Given the description of an element on the screen output the (x, y) to click on. 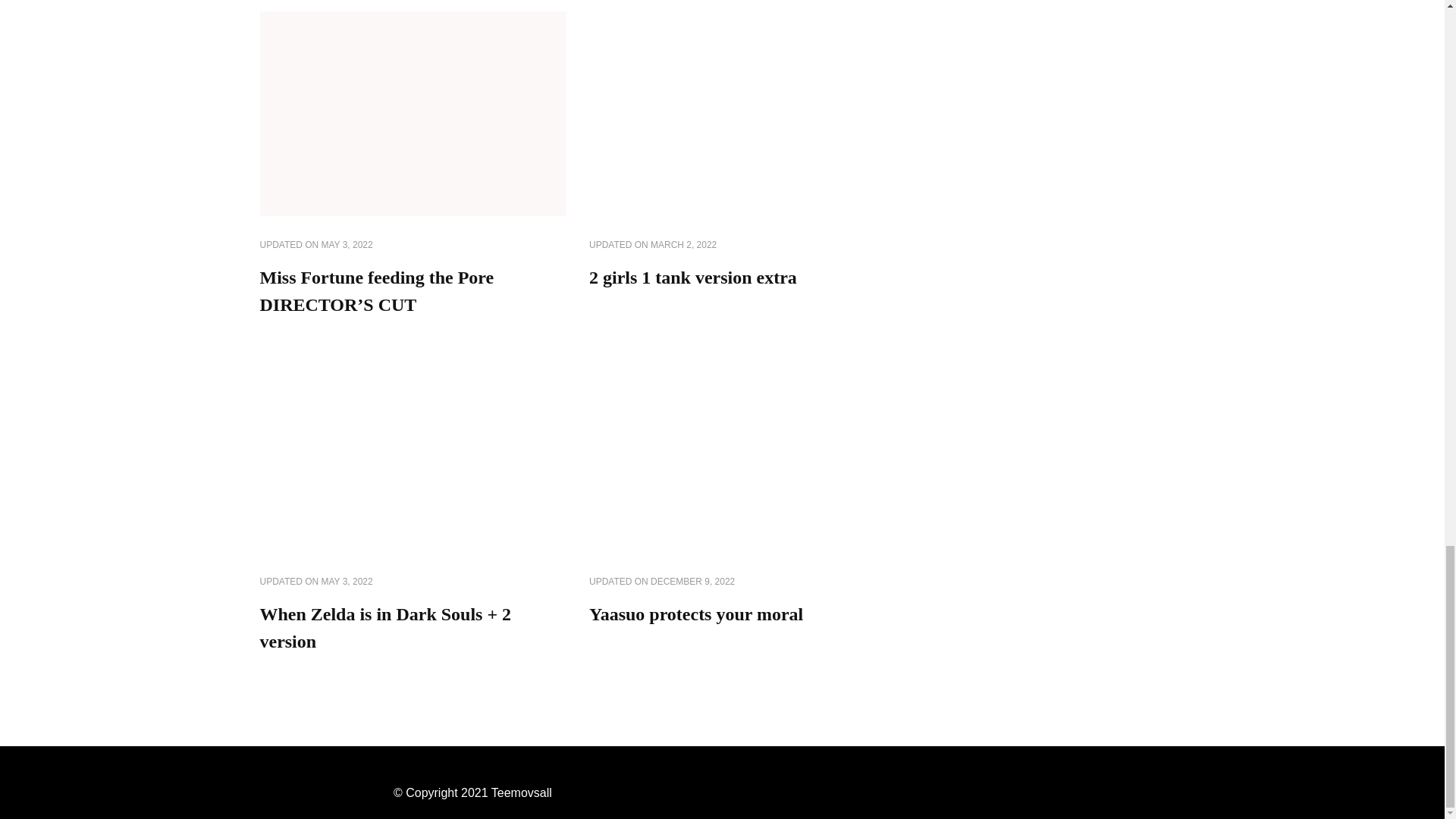
MAY 3, 2022 (346, 581)
2 girls 1 tank version extra (692, 277)
MARCH 2, 2022 (683, 245)
Yaasuo protects your moral (696, 614)
MAY 3, 2022 (346, 245)
DECEMBER 9, 2022 (692, 581)
